Given the description of an element on the screen output the (x, y) to click on. 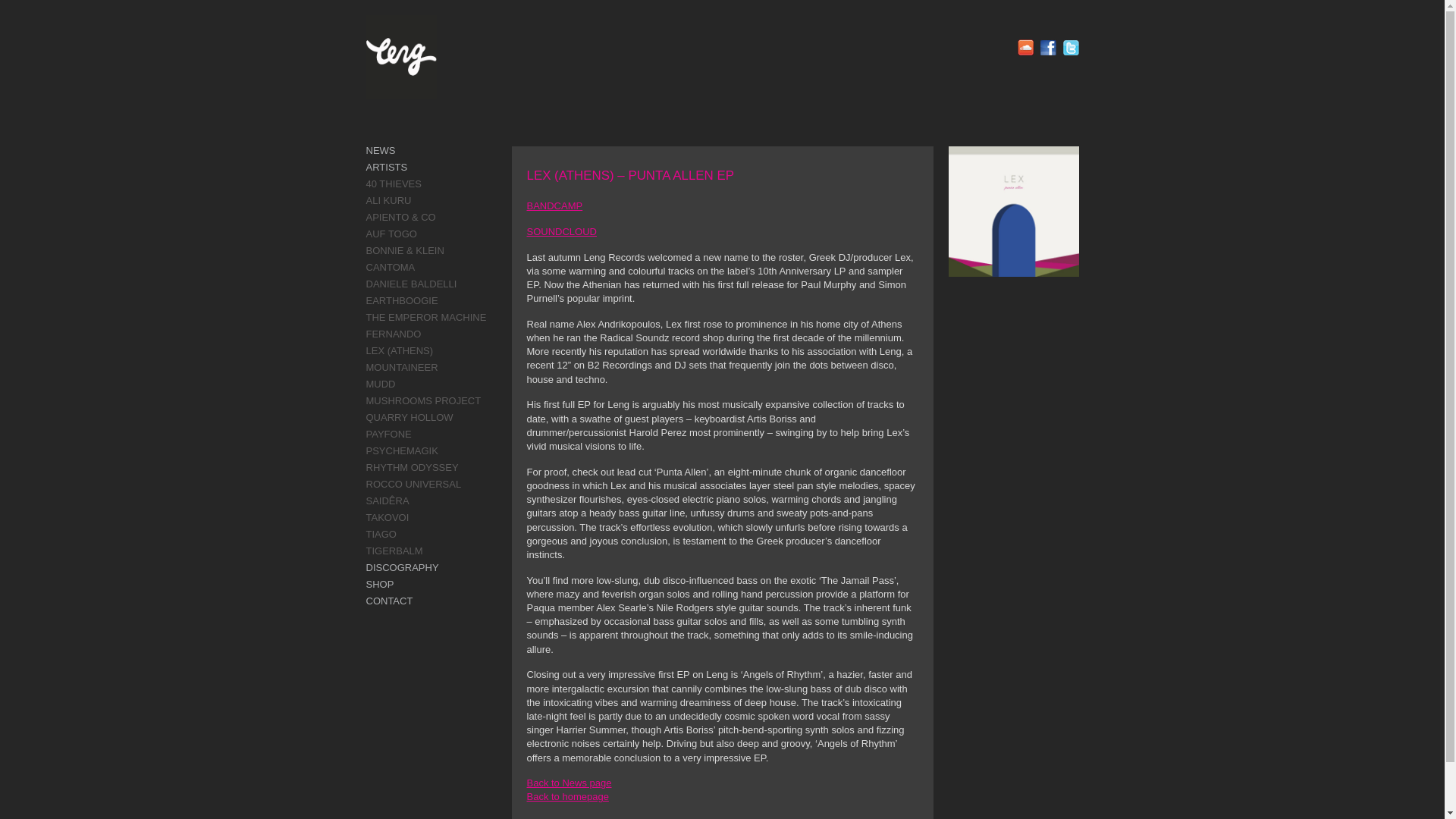
Follow us on Facebook (1049, 47)
ARTISTS (386, 166)
SOUNDCLOUD (560, 231)
Back to News page (568, 782)
40 THIEVES (392, 183)
News (568, 782)
BANDCAMP (553, 205)
NEWS (379, 150)
Follow us on Twitter (1070, 47)
Back to homepage (566, 796)
Leng on Soundcloud (1025, 47)
Home (566, 796)
Leng Records (400, 56)
